Given the description of an element on the screen output the (x, y) to click on. 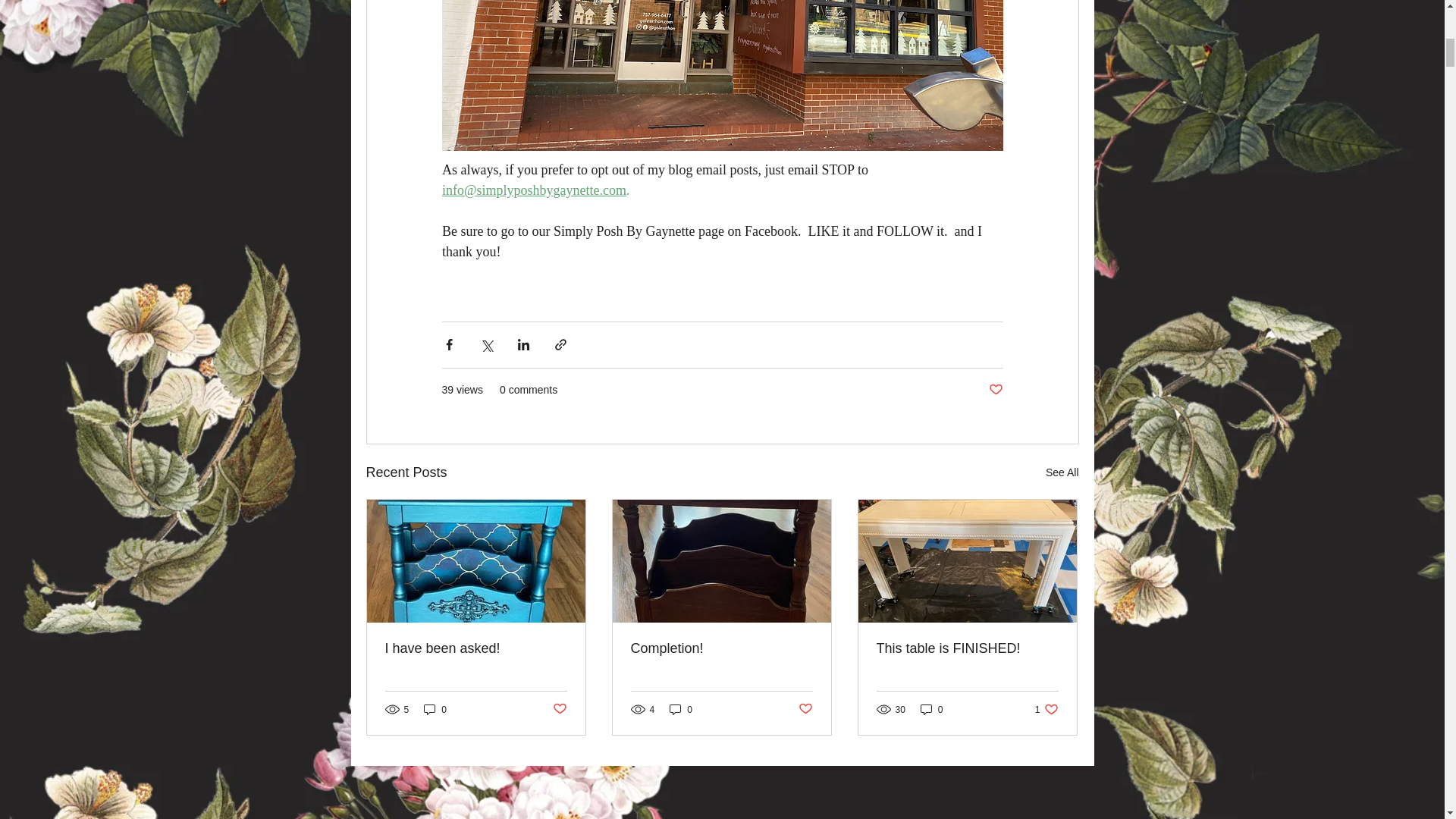
Completion! (721, 648)
Post not marked as liked (558, 709)
Post not marked as liked (804, 709)
0 (435, 708)
0 (681, 708)
See All (1061, 472)
I have been asked! (476, 648)
Post not marked as liked (995, 390)
